Given the description of an element on the screen output the (x, y) to click on. 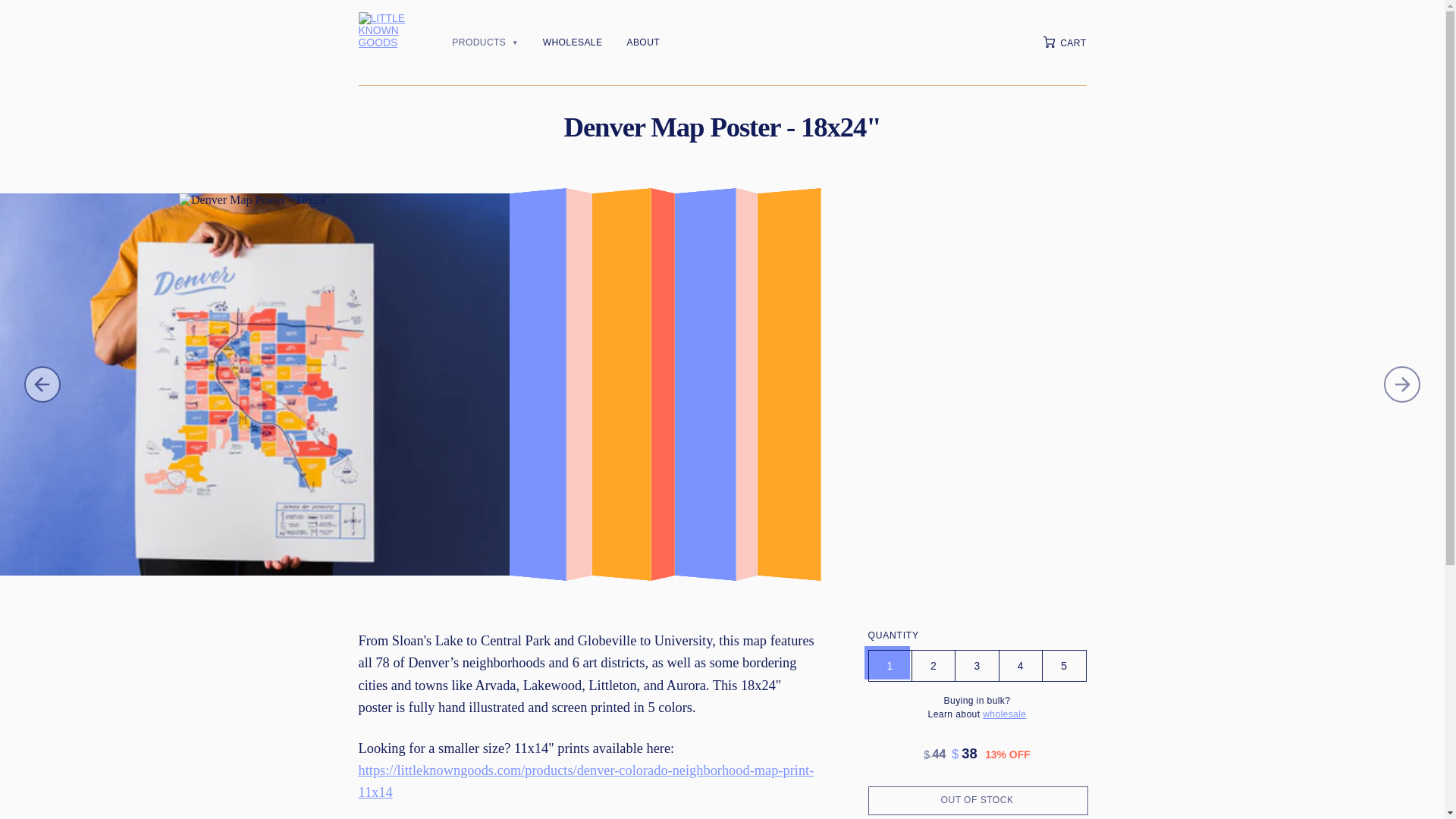
WHOLESALE (572, 41)
CART (1064, 41)
ABOUT (642, 41)
OUT OF STOCK (976, 800)
wholesale (1004, 714)
